Given the description of an element on the screen output the (x, y) to click on. 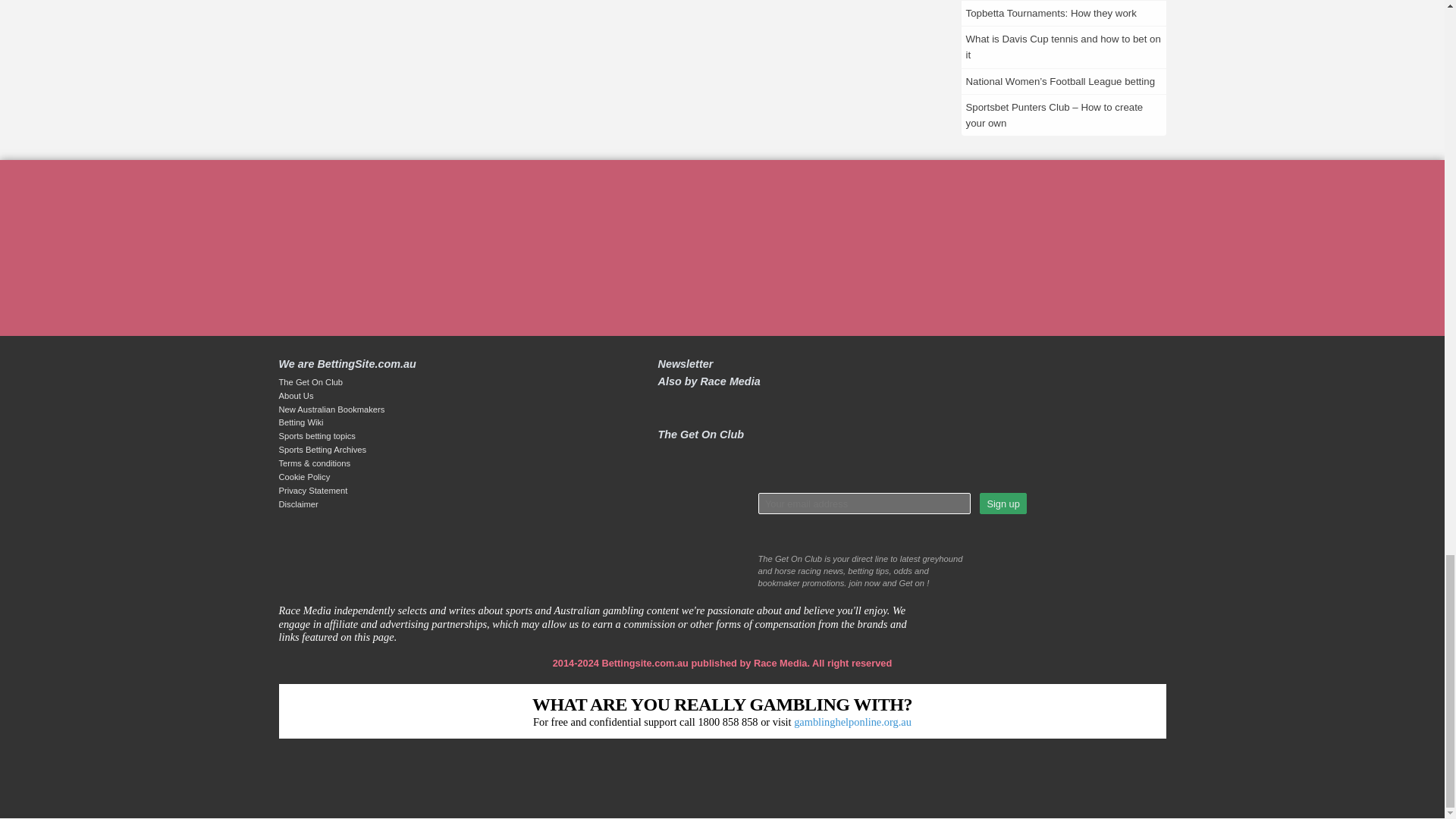
Sign up (1002, 503)
